Given the description of an element on the screen output the (x, y) to click on. 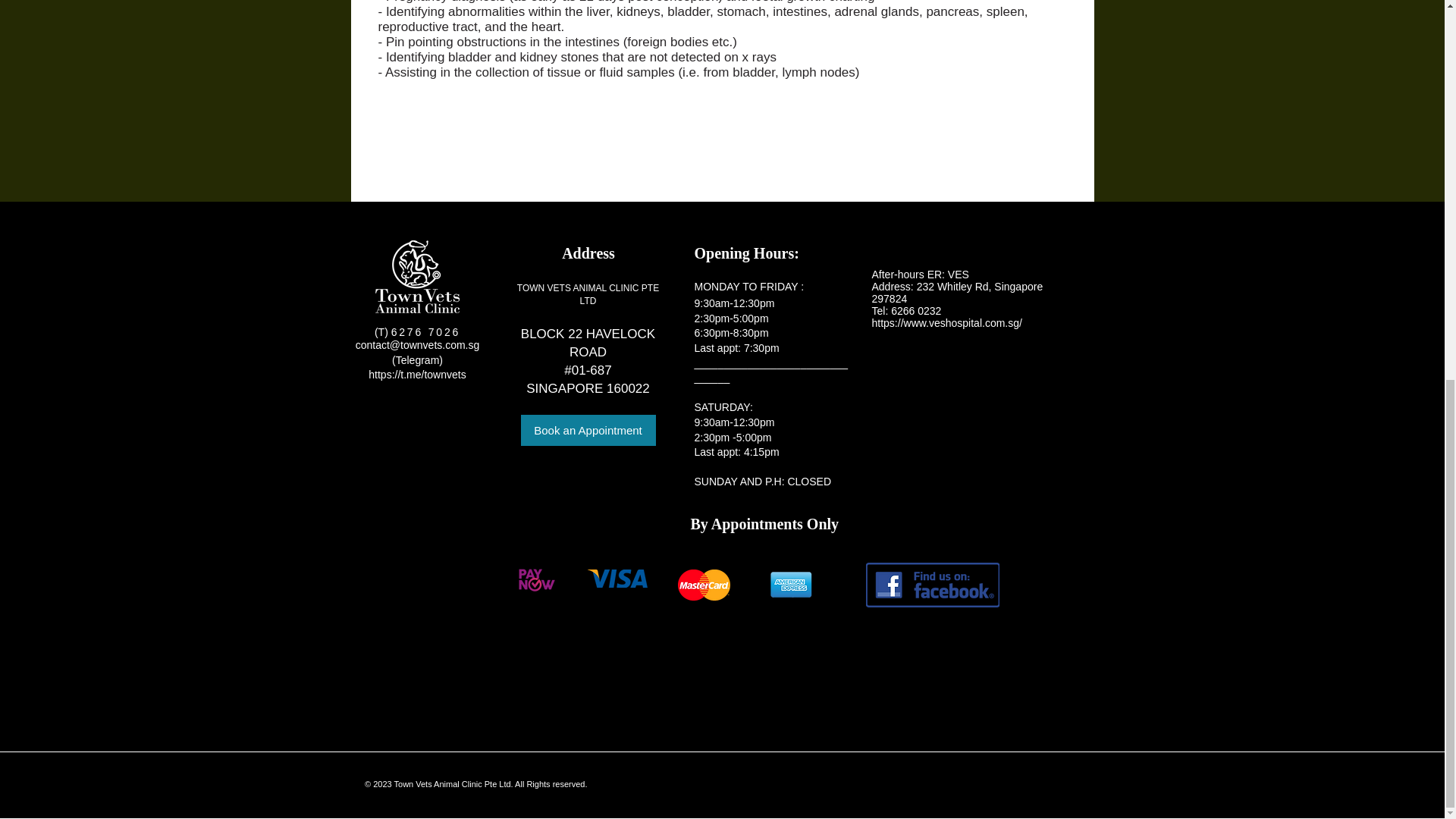
Address (891, 286)
6266 0232 (915, 310)
Logo 1 white.png (416, 276)
Book an Appointment (587, 429)
